Given the description of an element on the screen output the (x, y) to click on. 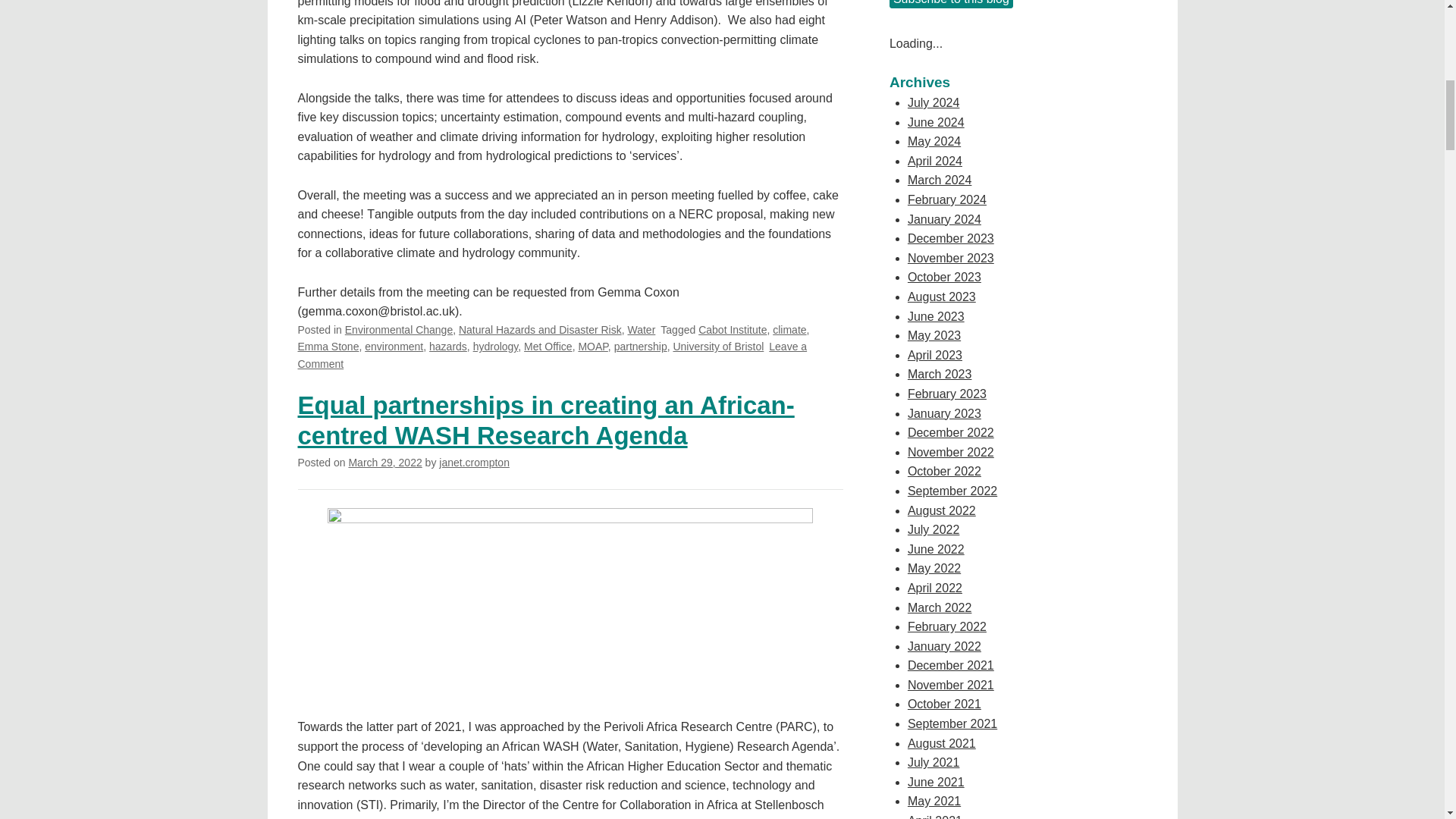
Environmental Change (398, 329)
Emma Stone (327, 346)
Water (641, 329)
Natural Hazards and Disaster Risk (539, 329)
Met Office (548, 346)
Cabot Institute (732, 329)
March 29, 2022 (384, 462)
University of Bristol (717, 346)
hazards (448, 346)
hydrology (495, 346)
partnership (551, 354)
janet.crompton (640, 346)
Subscribe to this blog (474, 462)
